Given the description of an element on the screen output the (x, y) to click on. 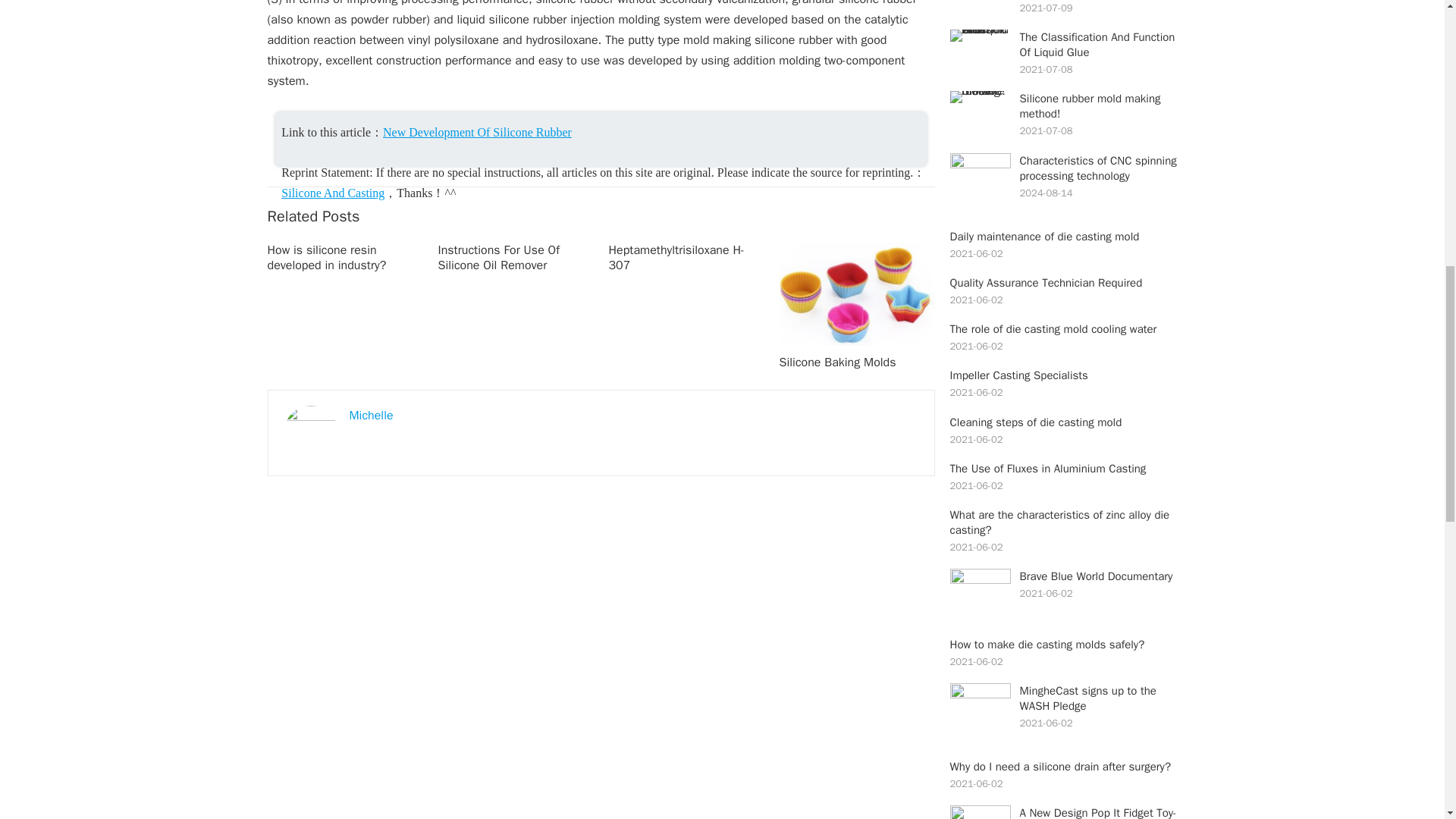
Silicone And Casting (332, 192)
New Development Of Silicone Rubber (477, 132)
Heptamethyltrisiloxane H-307 (676, 257)
Instructions For Use Of Silicone Oil Remover (498, 257)
Silicone Baking Molds (837, 362)
How is silicone resin developed in industry? (325, 257)
Michelle (371, 415)
